Given the description of an element on the screen output the (x, y) to click on. 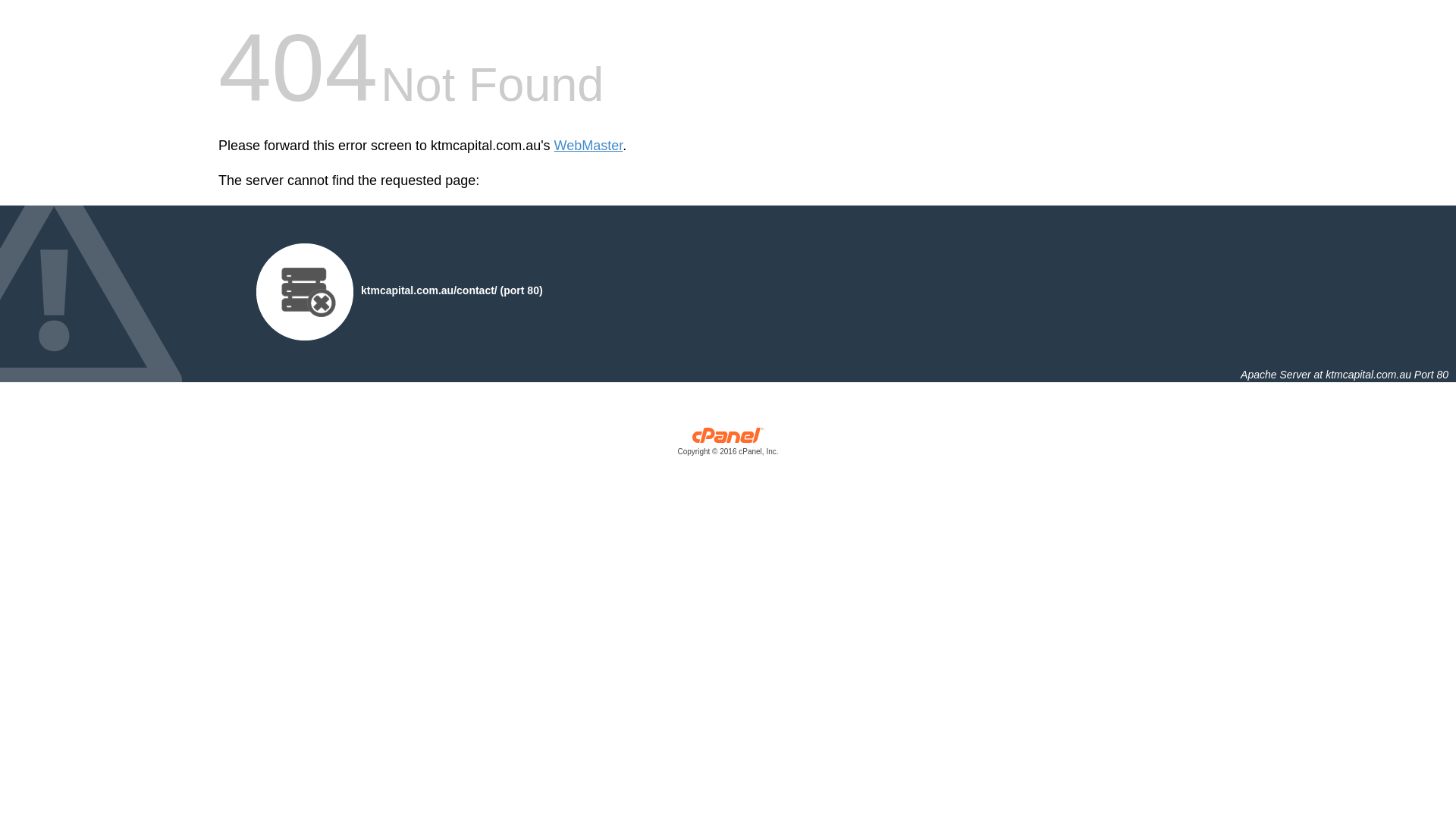
WebMaster Element type: text (588, 145)
